Given the description of an element on the screen output the (x, y) to click on. 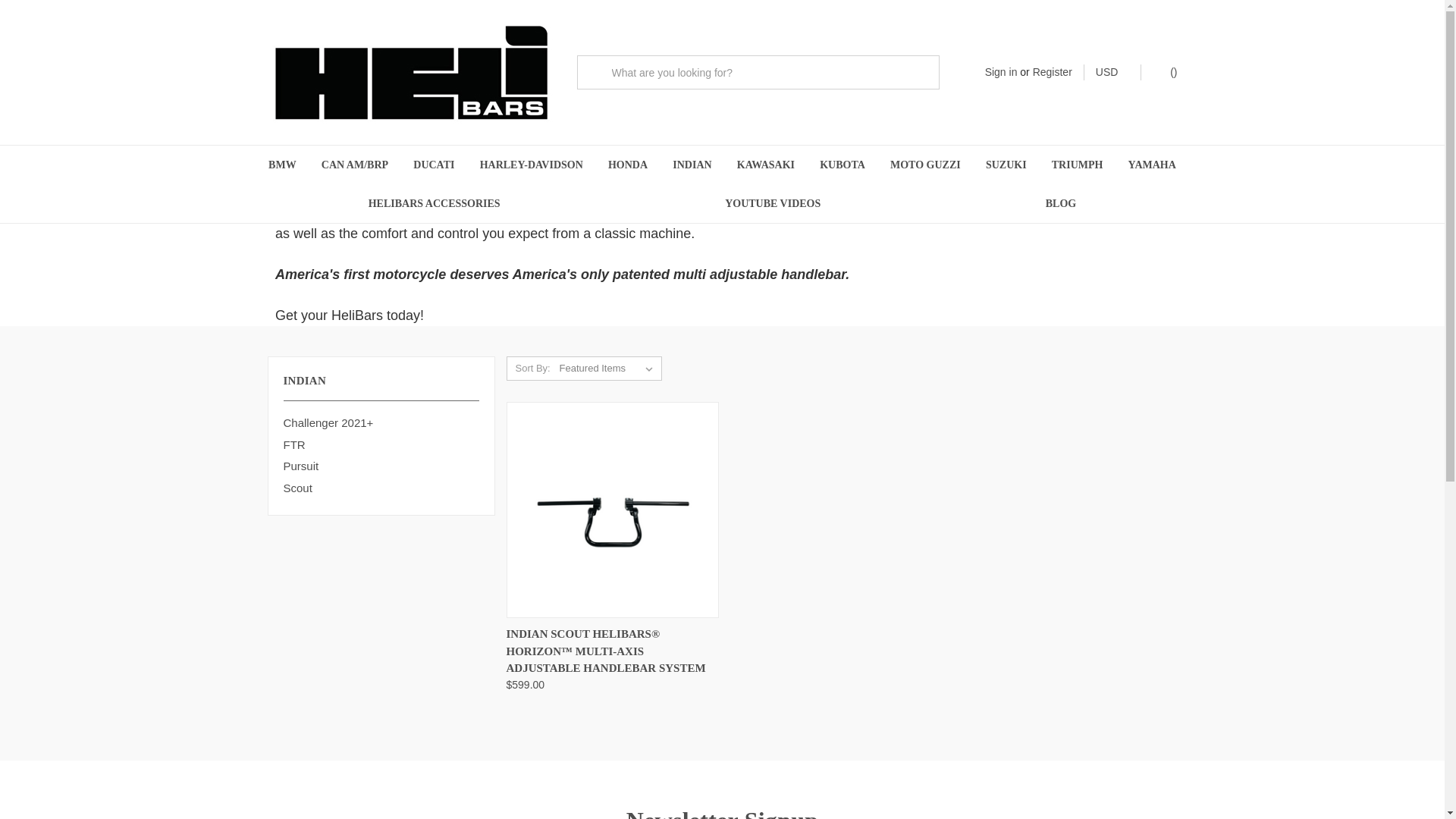
USD (1112, 72)
Pursuit (381, 466)
HeliBars (409, 72)
BMW (282, 164)
Sign in (1001, 72)
Register (1051, 72)
FTR (381, 444)
Scout (381, 488)
